Given the description of an element on the screen output the (x, y) to click on. 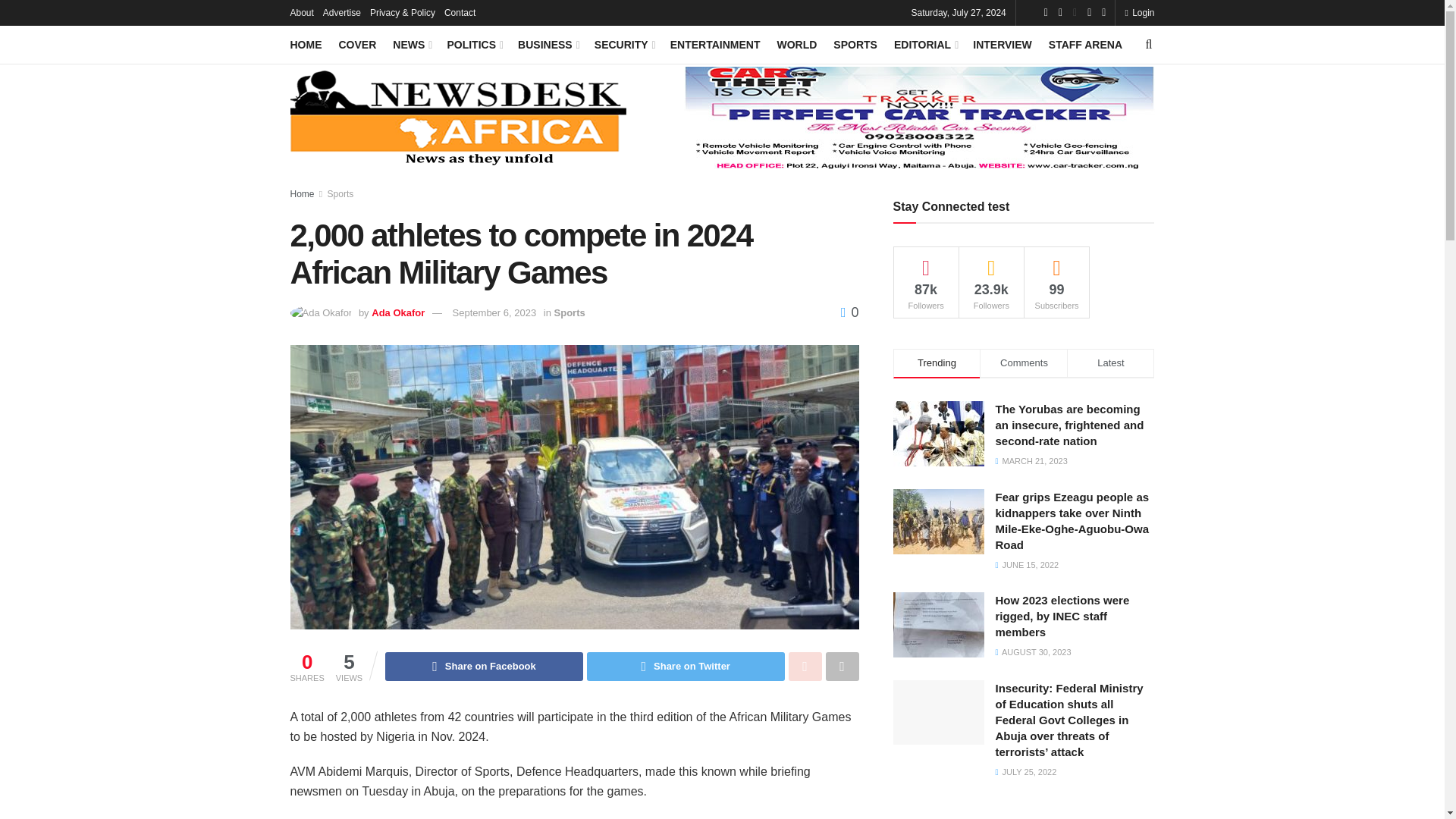
EDITORIAL (924, 44)
SPORTS (854, 44)
COVER (356, 44)
Advertise (342, 12)
WORLD (796, 44)
HOME (305, 44)
POLITICS (473, 44)
About (301, 12)
Login (1139, 12)
SECURITY (623, 44)
